Given the description of an element on the screen output the (x, y) to click on. 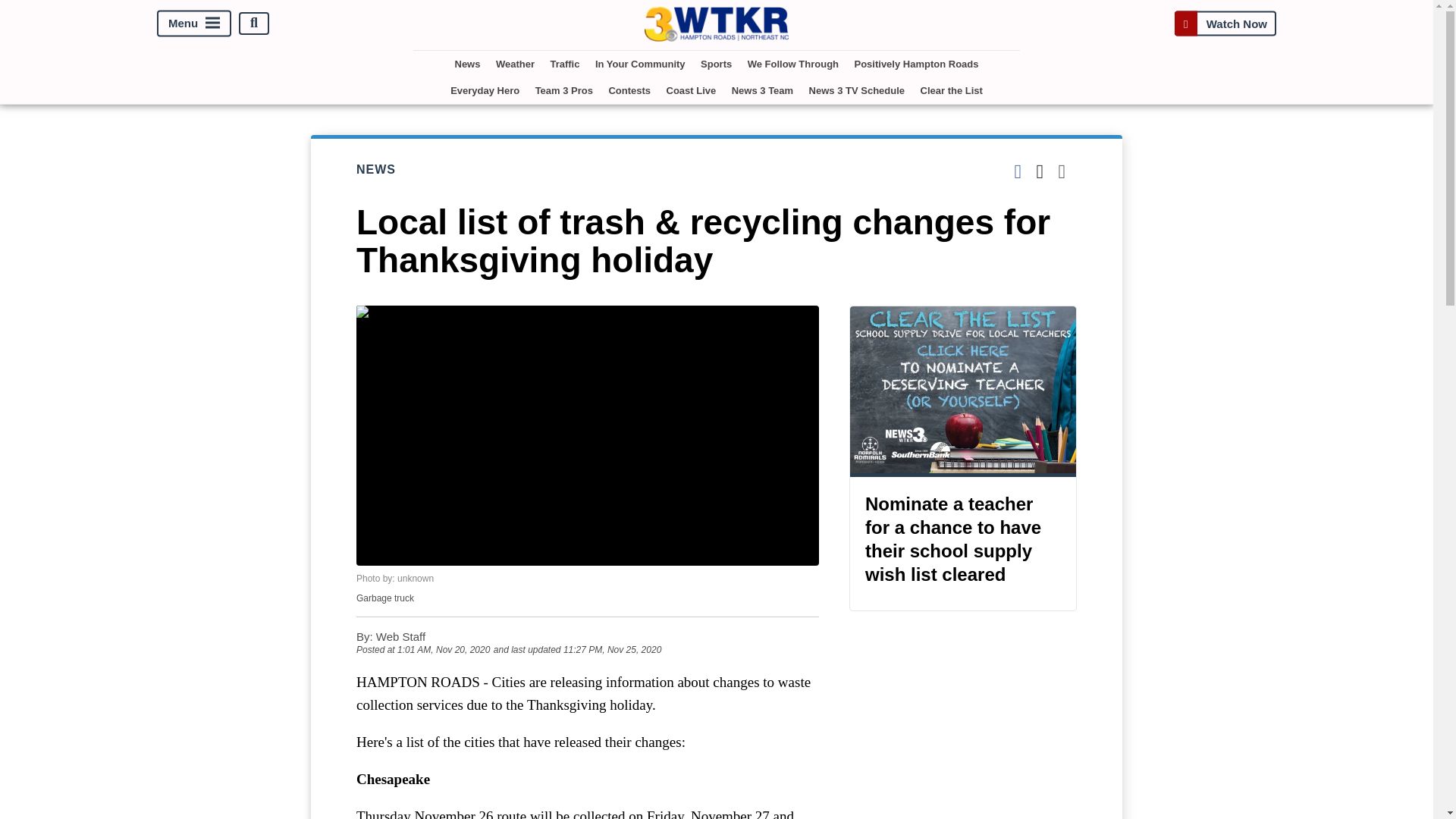
Watch Now (1224, 22)
Menu (194, 22)
